Given the description of an element on the screen output the (x, y) to click on. 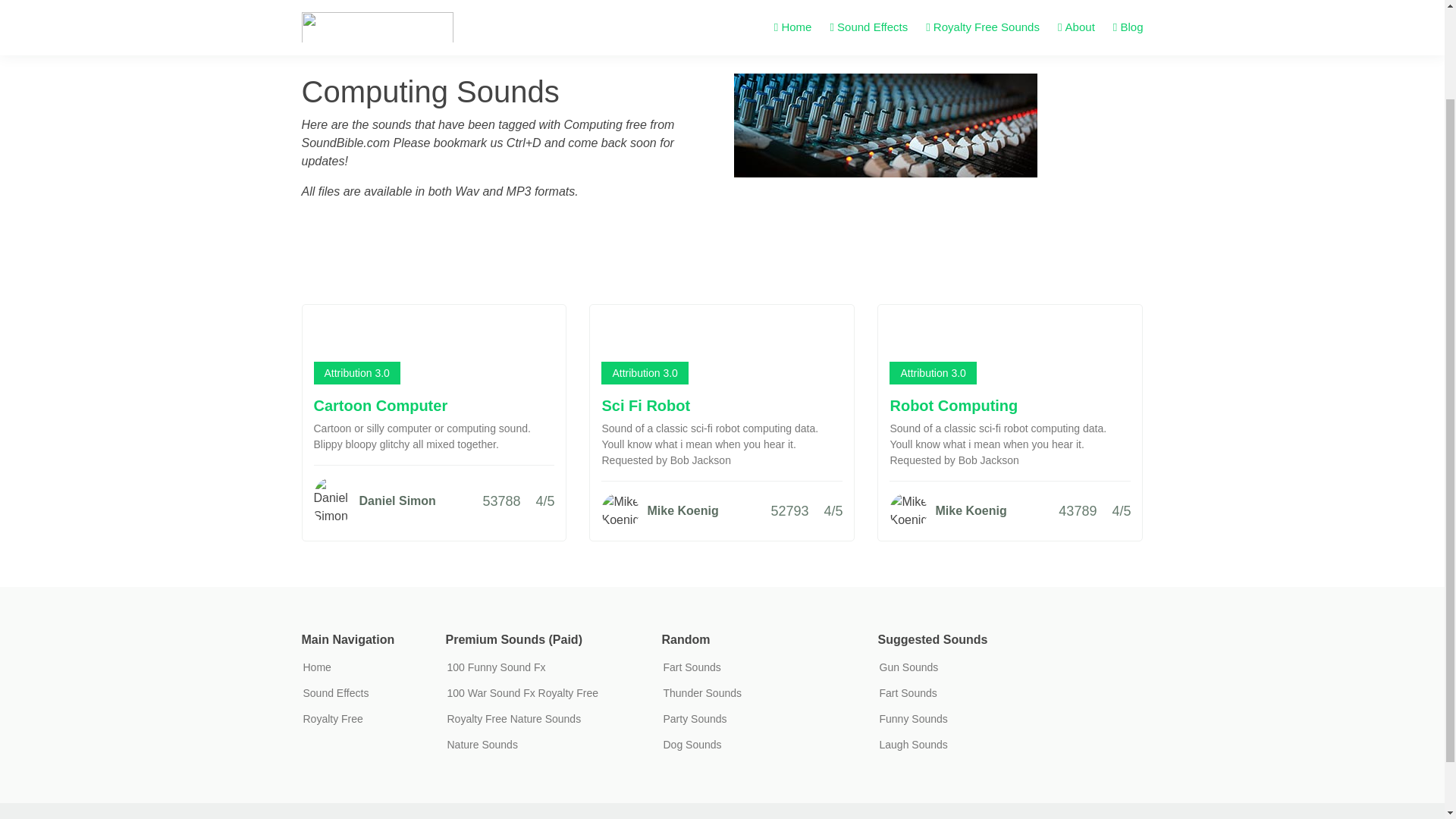
Nature Sounds (482, 744)
Thunder Sounds (701, 692)
Laugh Sounds (913, 744)
Funny Sounds (913, 718)
Royalty Free (332, 718)
Gun Sounds (909, 666)
thunder sounds (701, 692)
dog sounds (691, 744)
100 Funny Sound Fx (496, 666)
Dog Sounds (691, 744)
Sci Fi Robot (645, 405)
Nature Sounds (482, 744)
100 War Sound Fx Royalty Free (522, 692)
Fart Sounds (908, 692)
fart sounds (691, 666)
